Given the description of an element on the screen output the (x, y) to click on. 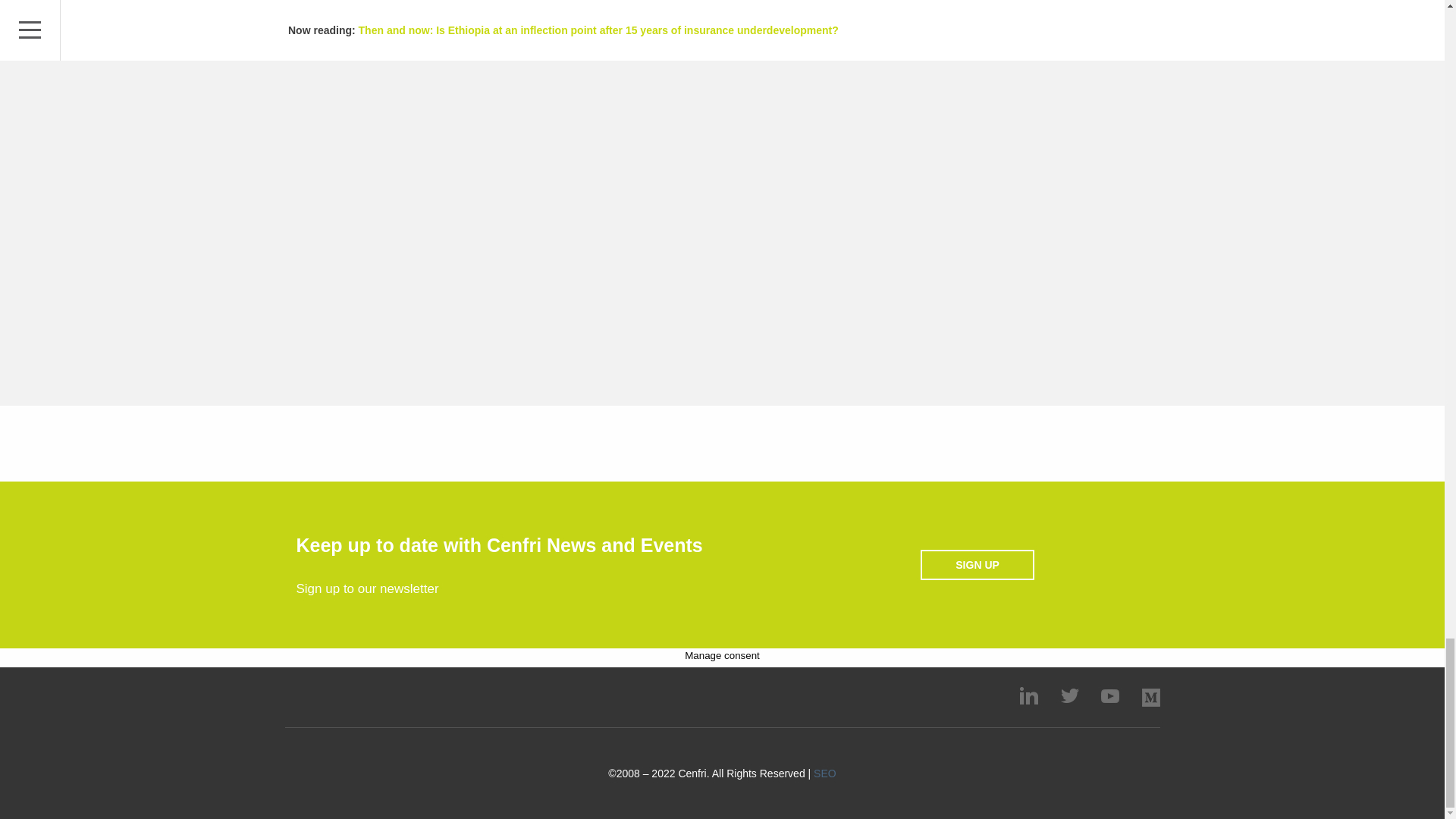
Linkedin (1029, 695)
Medium (1150, 697)
Twitter (1069, 695)
Youtube (1109, 696)
